Given the description of an element on the screen output the (x, y) to click on. 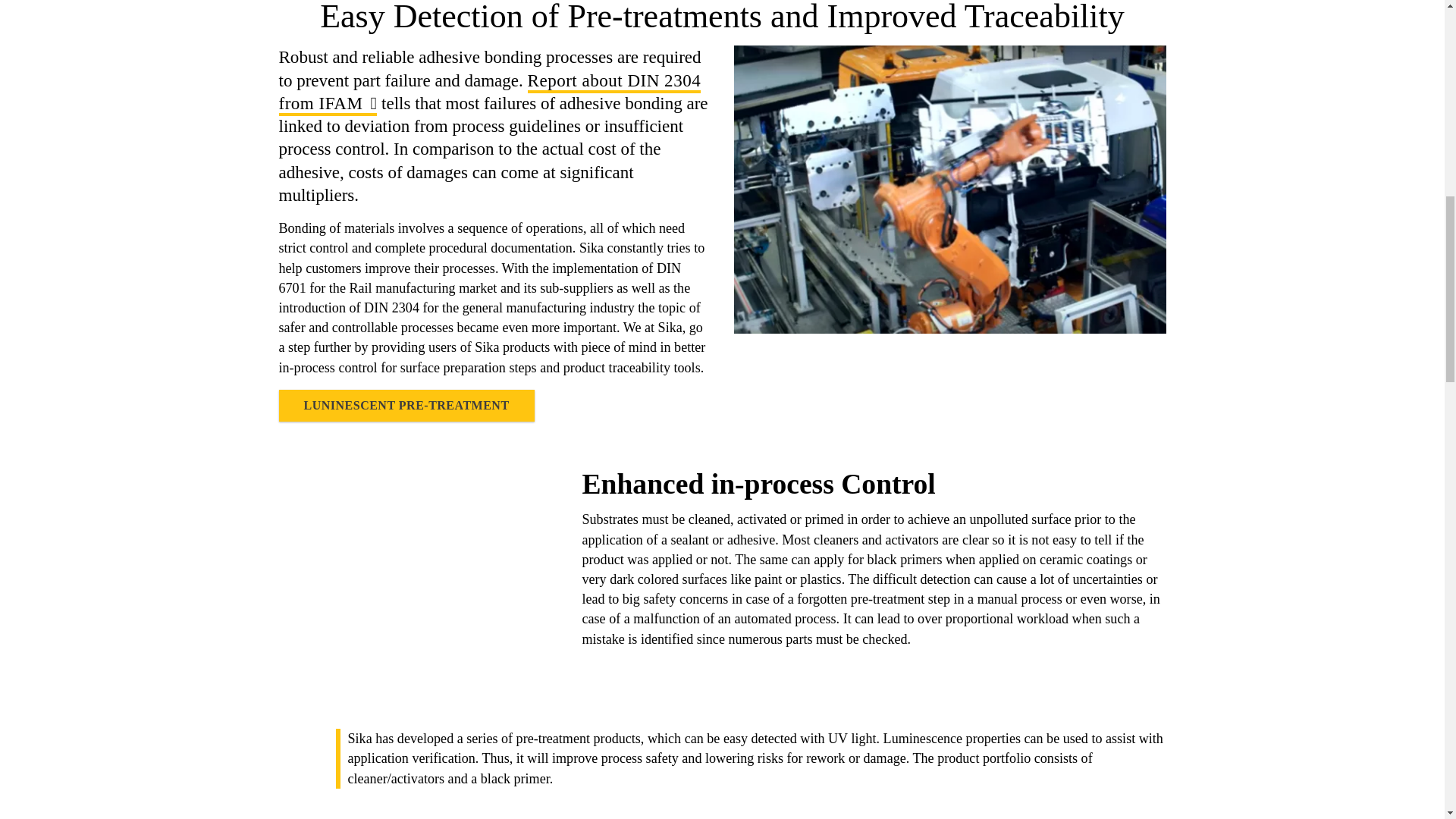
DIN 2304 IFAM report (490, 93)
